Given the description of an element on the screen output the (x, y) to click on. 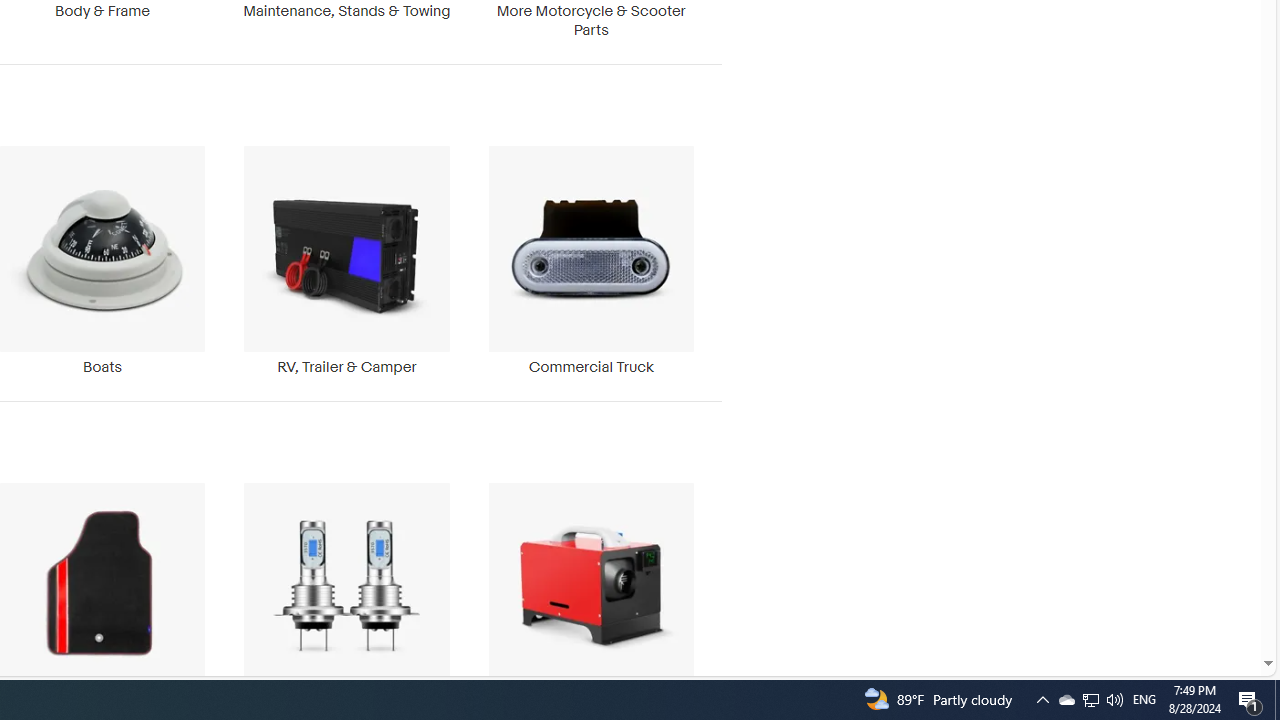
More Parts & Accessories (591, 596)
Commercial Truck (591, 260)
Lighting & Lamps (346, 596)
RV, Trailer & Camper (346, 260)
Commercial Truck (591, 260)
RV, Trailer & Camper (346, 260)
Lighting & Lamps (346, 596)
More Parts & Accessories (591, 596)
